Given the description of an element on the screen output the (x, y) to click on. 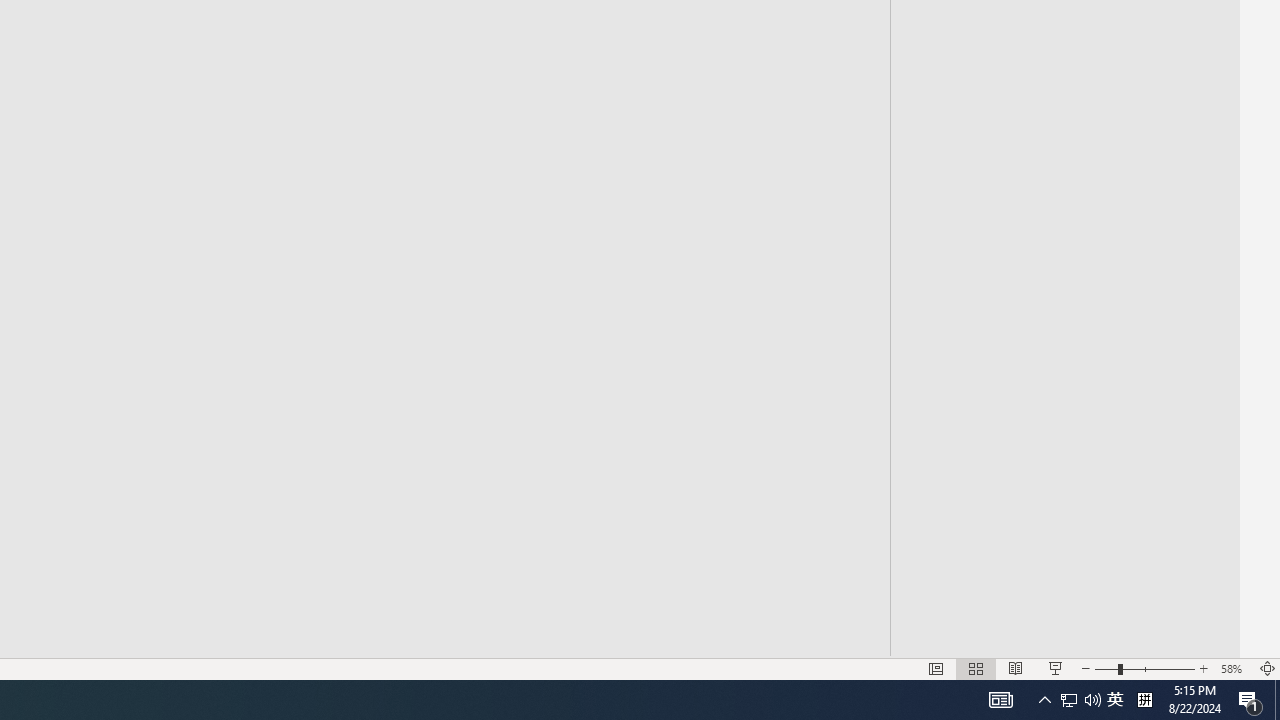
Zoom Out (1105, 668)
Slide Show (1055, 668)
Reading View (1015, 668)
Slide Sorter (975, 668)
Zoom to Fit  (1267, 668)
Zoom (1144, 668)
Zoom In (1204, 668)
Zoom 58% (1234, 668)
Normal (936, 668)
